Given the description of an element on the screen output the (x, y) to click on. 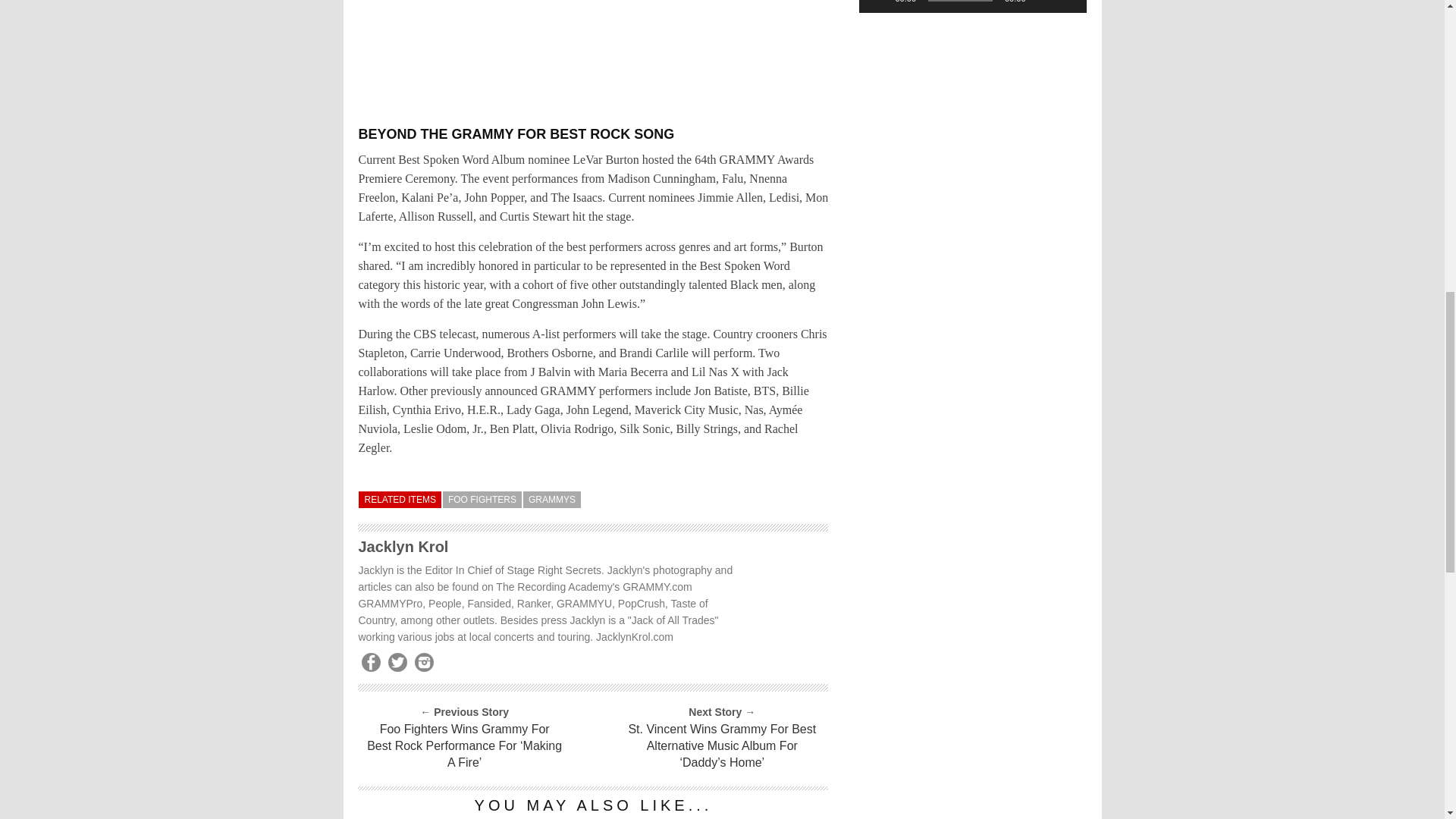
Play (877, 2)
Mute (1041, 2)
Posts by Jacklyn Krol (403, 546)
Fullscreen (1066, 2)
